Given the description of an element on the screen output the (x, y) to click on. 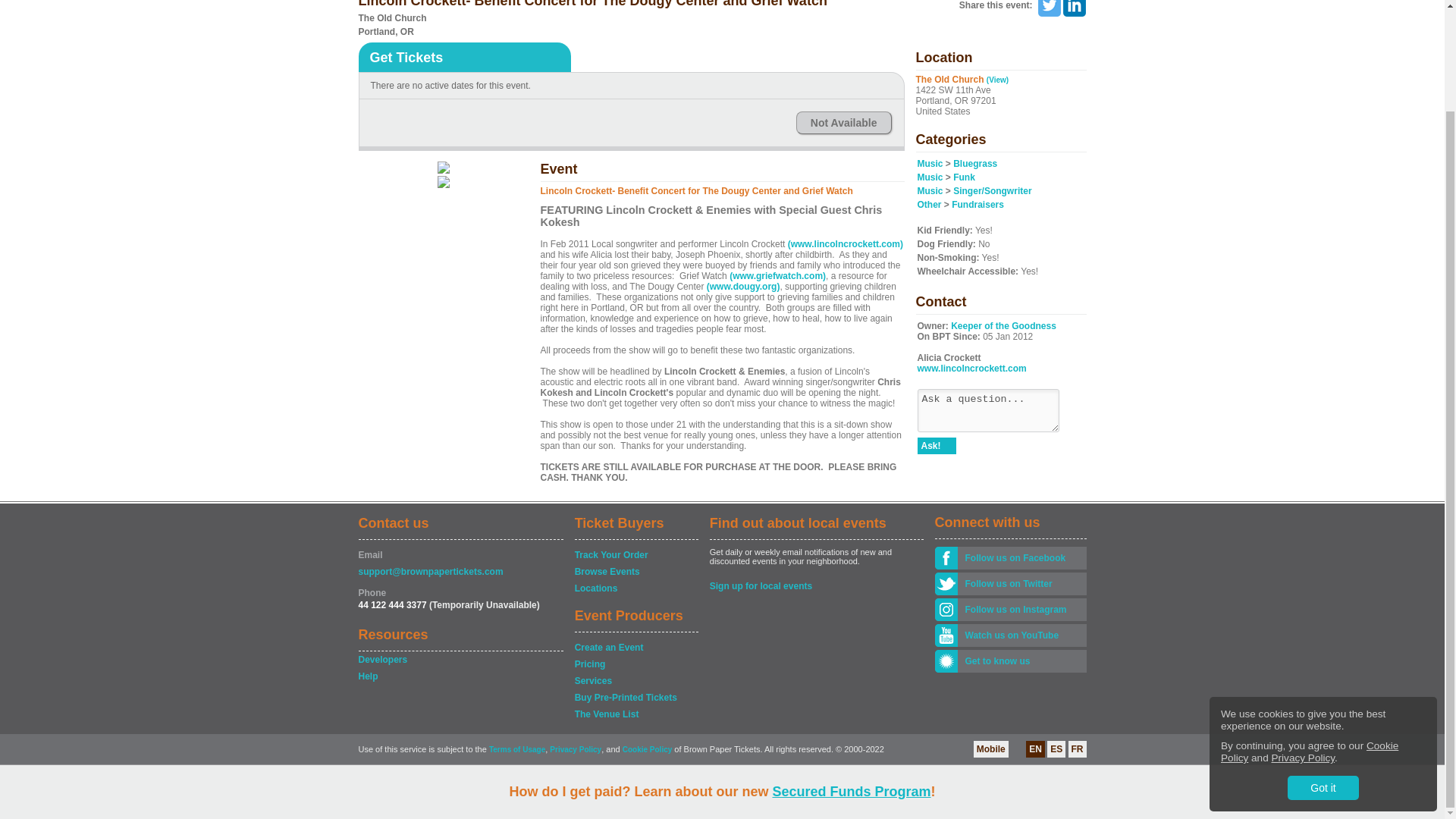
www.lincolncrockett.com (971, 368)
Fundraisers (978, 204)
Funk (964, 176)
Locations (636, 588)
Other (929, 204)
Bluegrass (975, 163)
Browse Events (636, 571)
Cookie Policy (1309, 634)
Music (930, 176)
Secured Funds Program (850, 673)
